Given the description of an element on the screen output the (x, y) to click on. 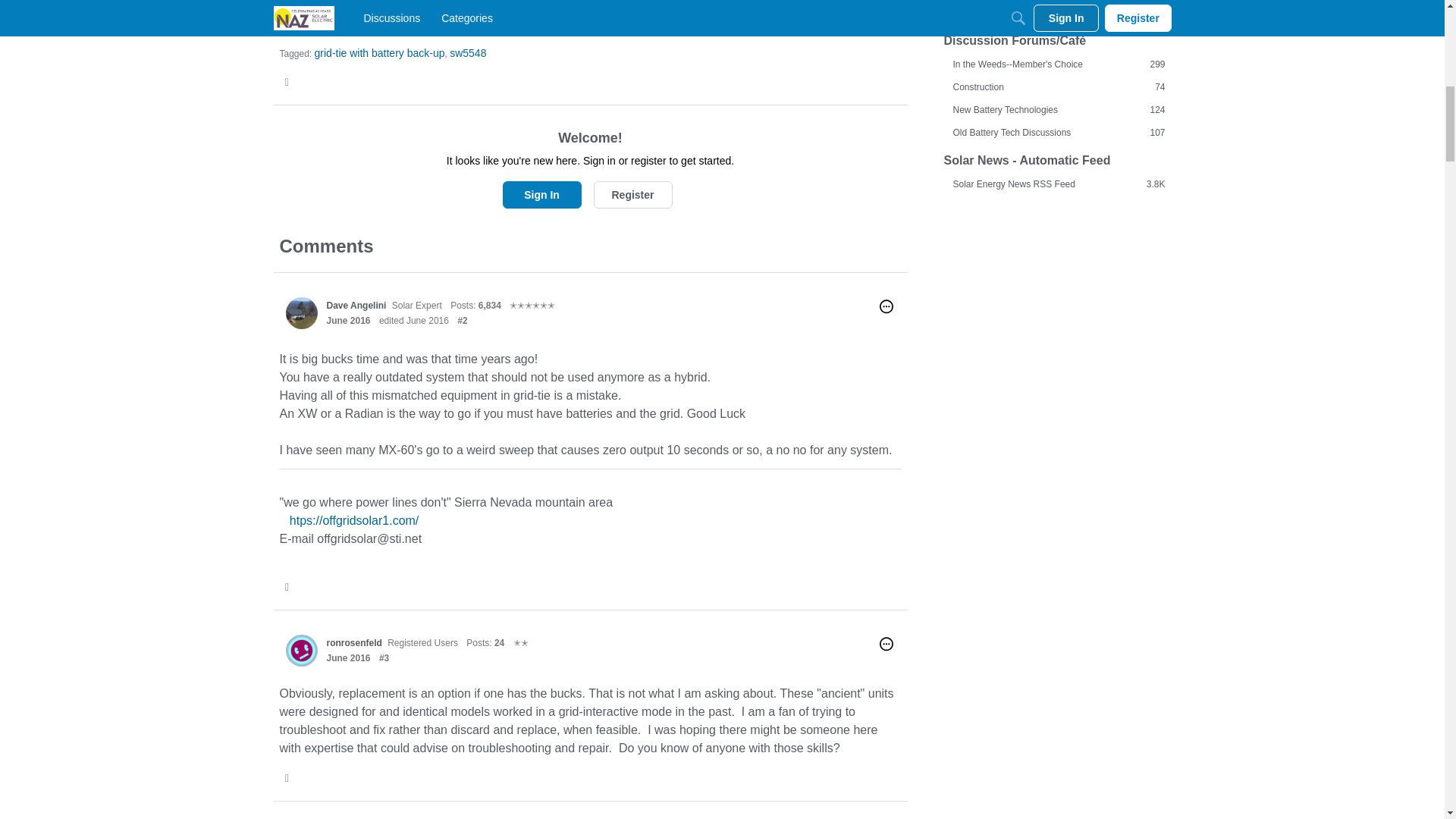
Level 2 (520, 642)
June 2016 (347, 656)
Share on Twitter (288, 82)
Level 6 (531, 305)
ronrosenfeld (353, 642)
Dave Angelini (301, 313)
grid-tie with battery back-up (379, 52)
Register (631, 194)
Sign In (541, 194)
ronrosenfeld (301, 649)
Sign In (541, 194)
June 2016 (347, 320)
Edited June 15, 2016 3:18PM by Dave Angelini. (413, 320)
sw5548 (467, 52)
June 17, 2016 11:26AM (347, 656)
